Given the description of an element on the screen output the (x, y) to click on. 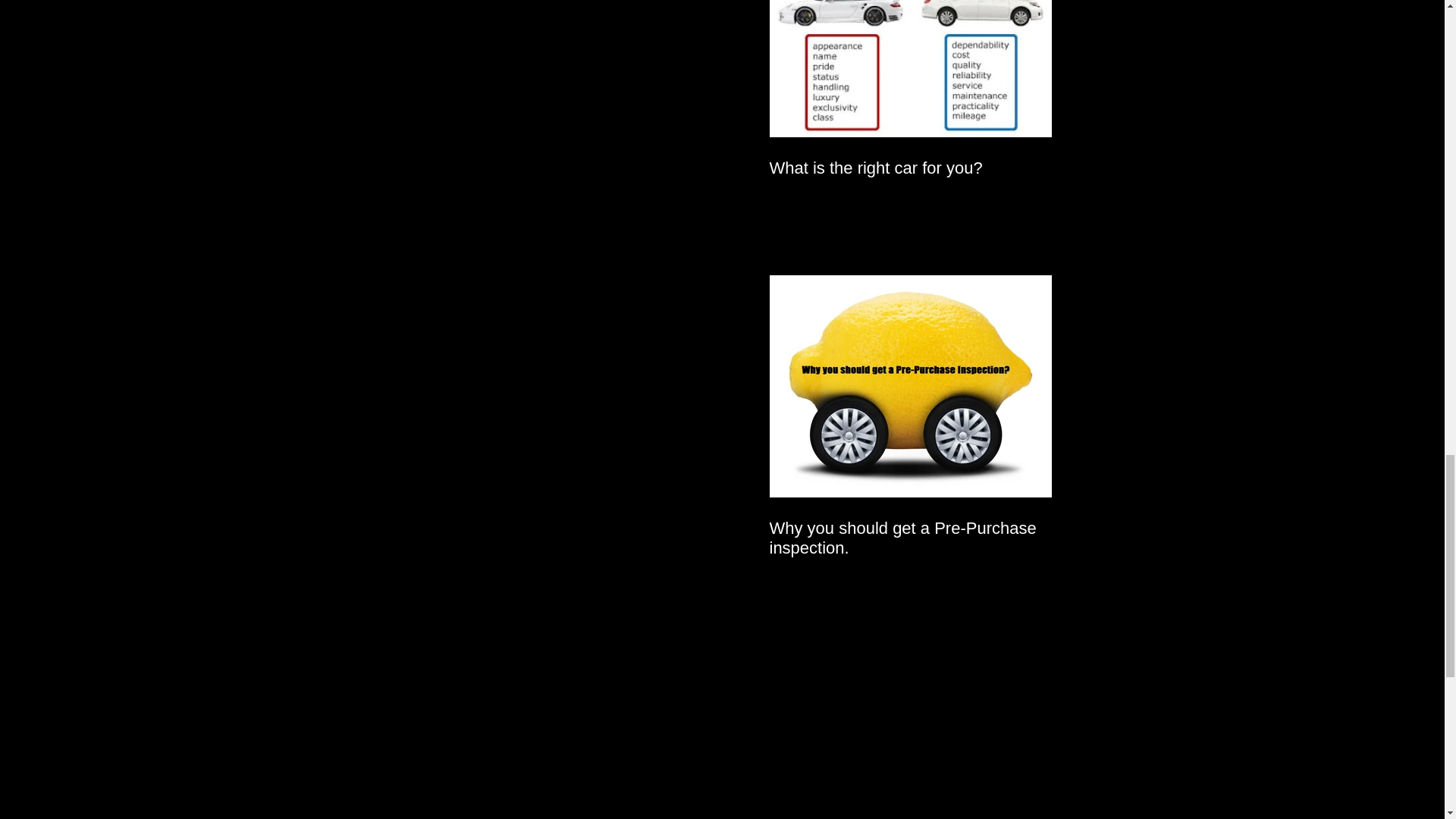
Why you should get a Pre-Purchase inspection. (909, 537)
What is the right car for you? (909, 168)
